Given the description of an element on the screen output the (x, y) to click on. 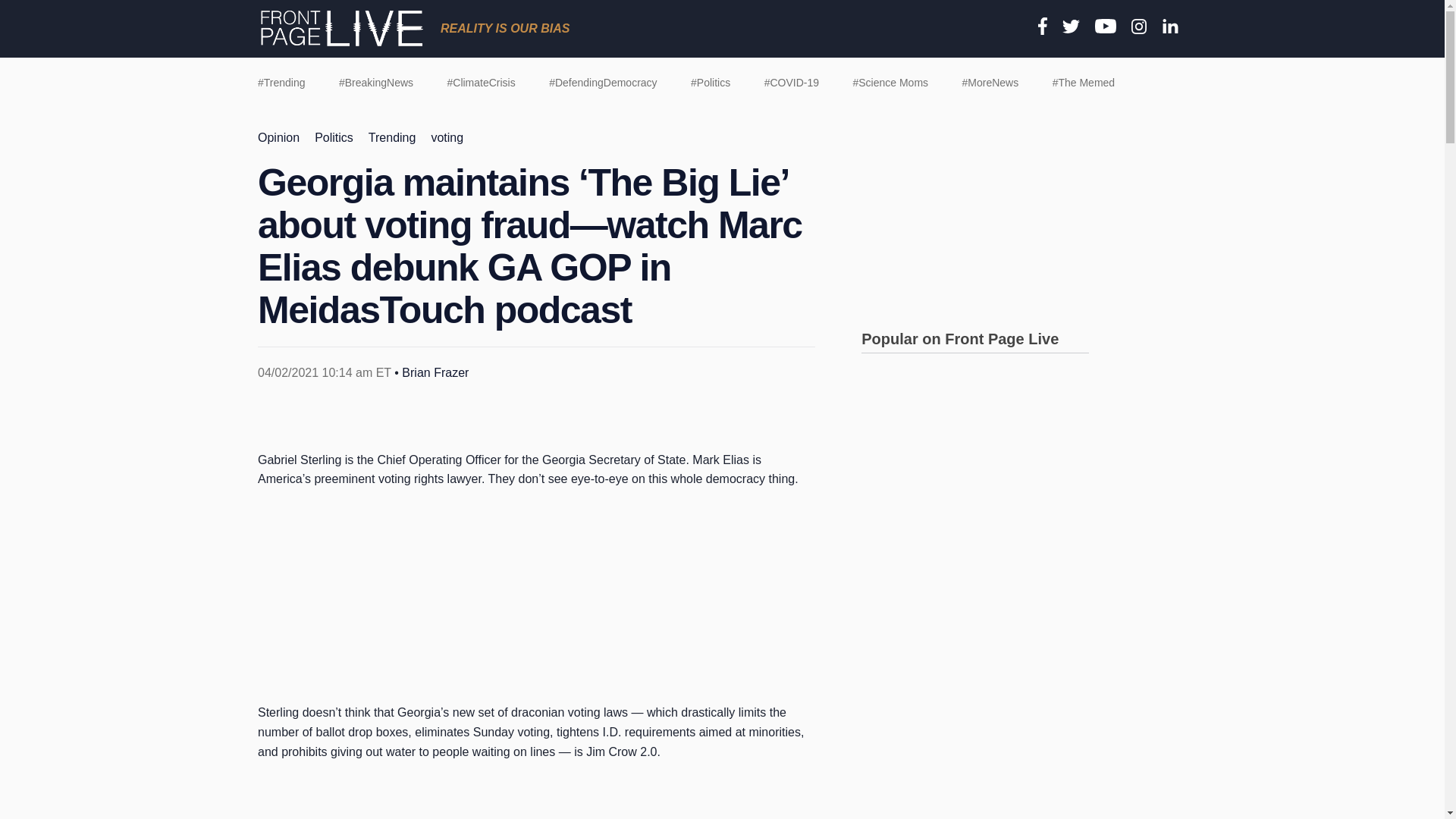
Front Page Live's Twitter page (1071, 28)
voting (446, 137)
Front Page Live's LinkedIn page (1170, 27)
Brian Frazer (434, 372)
Trending (392, 137)
Front Page Live's YouTube page (1105, 27)
Politics (333, 137)
Opinion (278, 137)
